Given the description of an element on the screen output the (x, y) to click on. 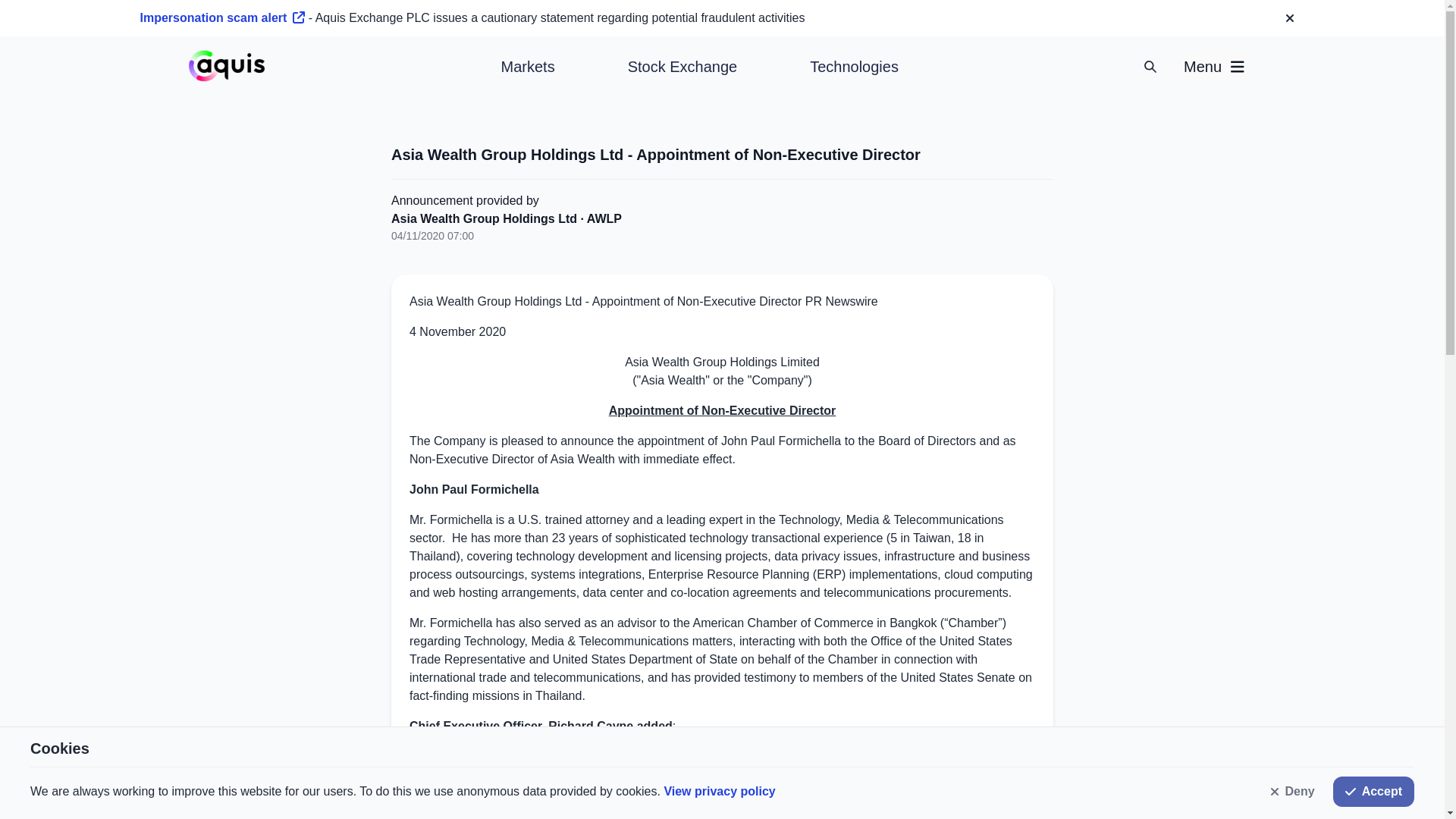
Impersonation scam alert (221, 17)
Stock Exchange (682, 66)
Accept (1373, 791)
Markets (527, 66)
Deny (1291, 791)
Technologies (853, 66)
View privacy policy (718, 790)
